Given the description of an element on the screen output the (x, y) to click on. 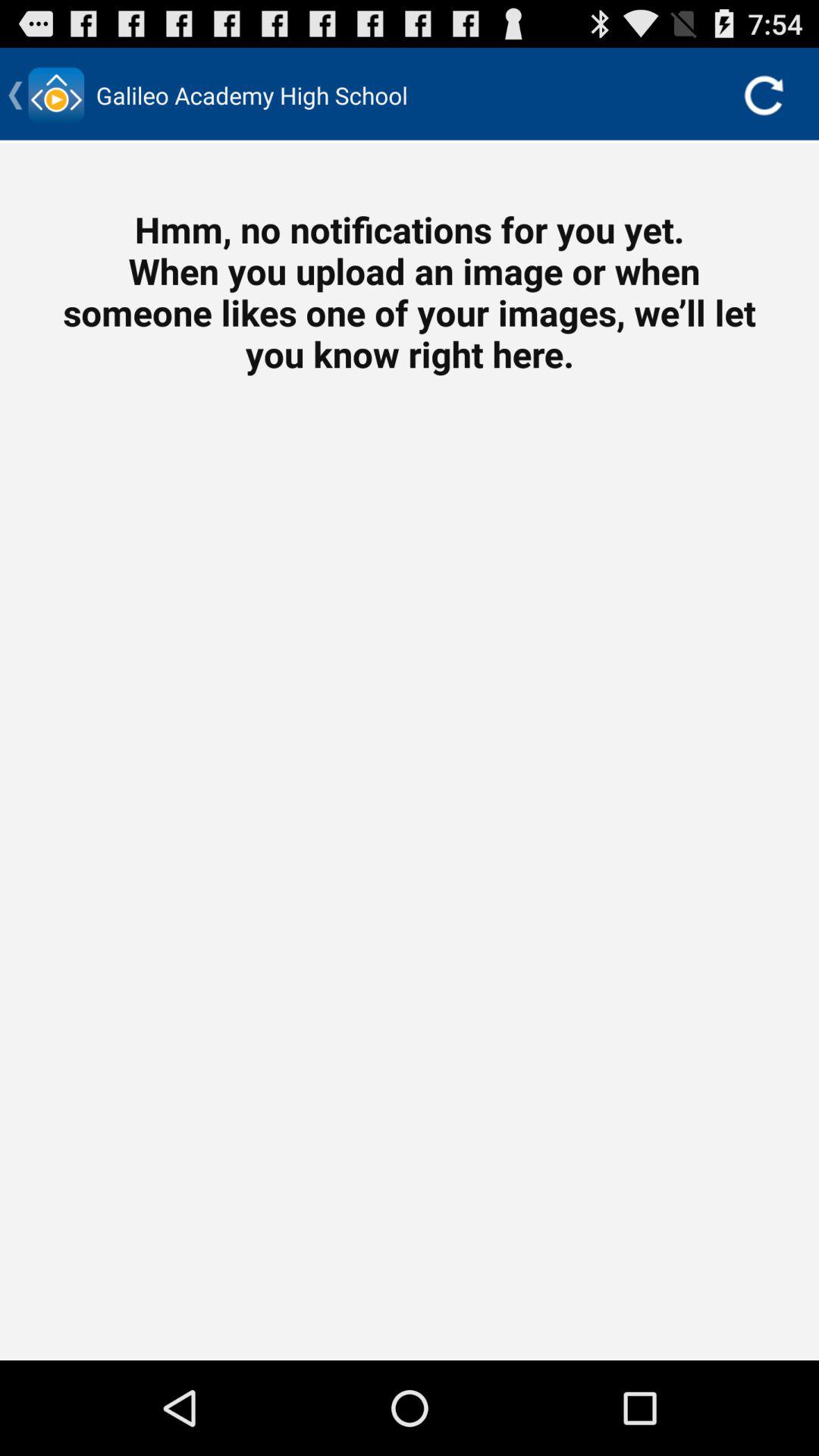
turn on the icon at the top right corner (763, 95)
